Given the description of an element on the screen output the (x, y) to click on. 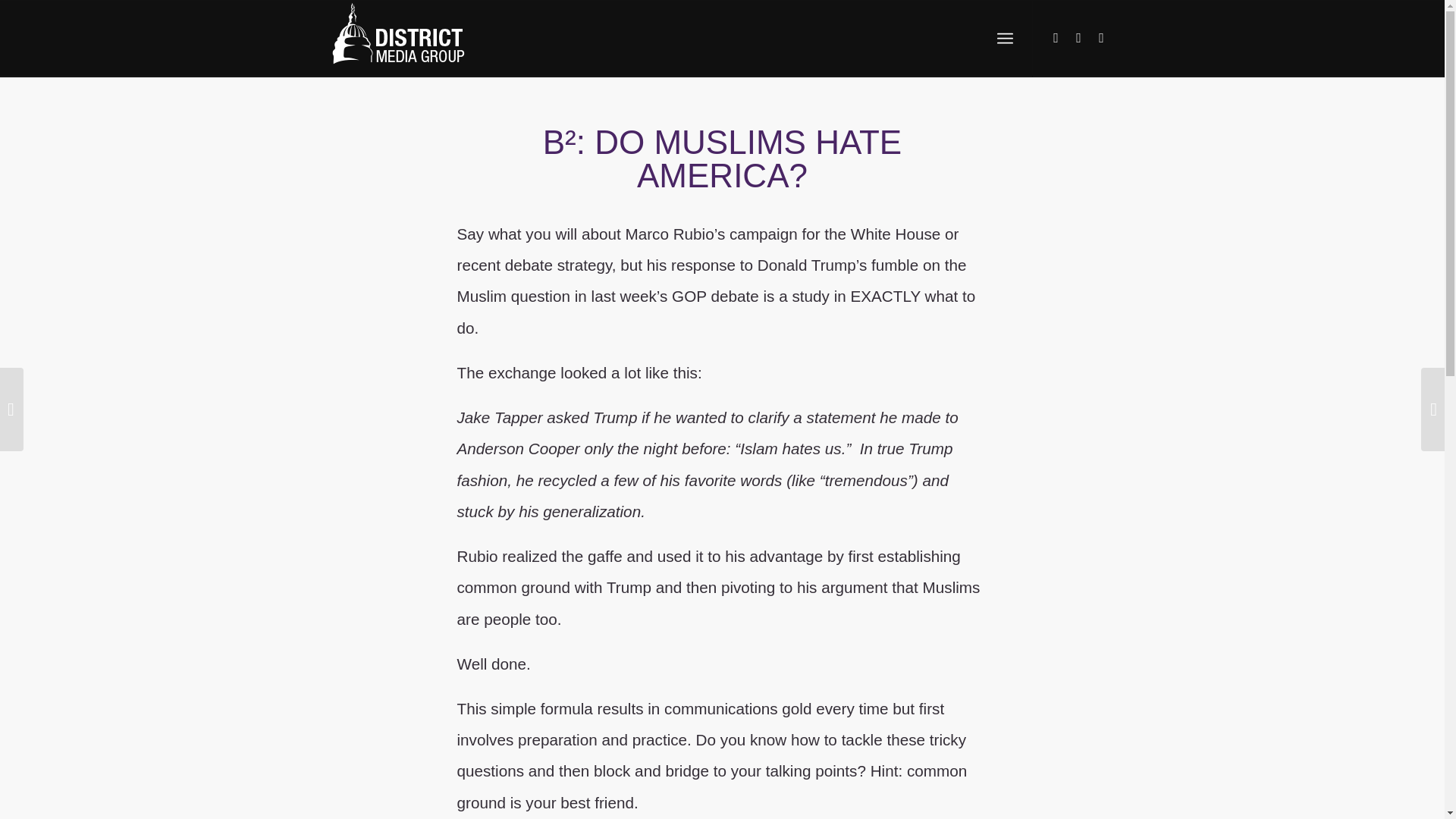
Instagram (1056, 37)
Facebook (1101, 37)
Twitter (1078, 37)
